Given the description of an element on the screen output the (x, y) to click on. 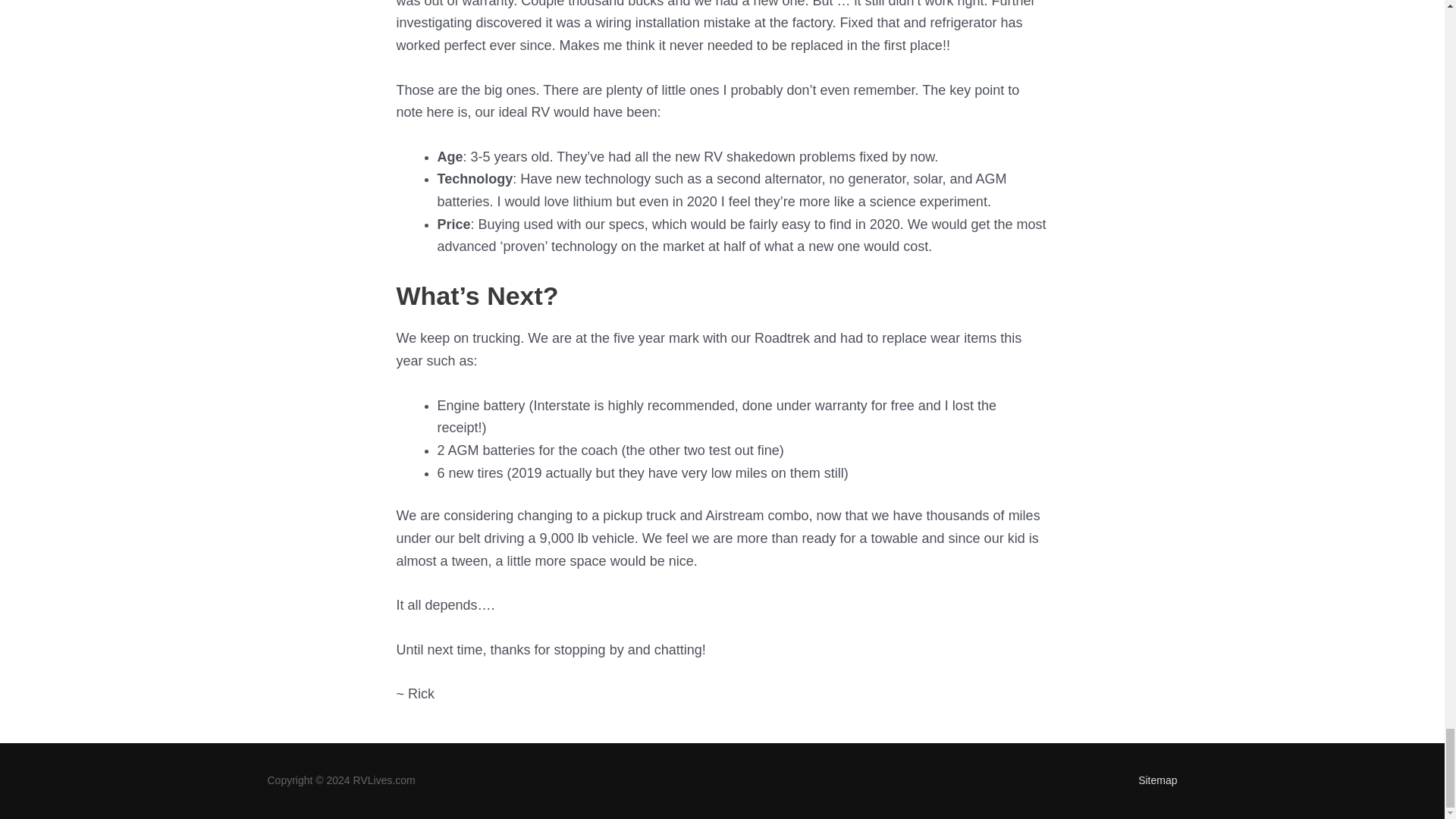
Sitemap (1151, 779)
